Given the description of an element on the screen output the (x, y) to click on. 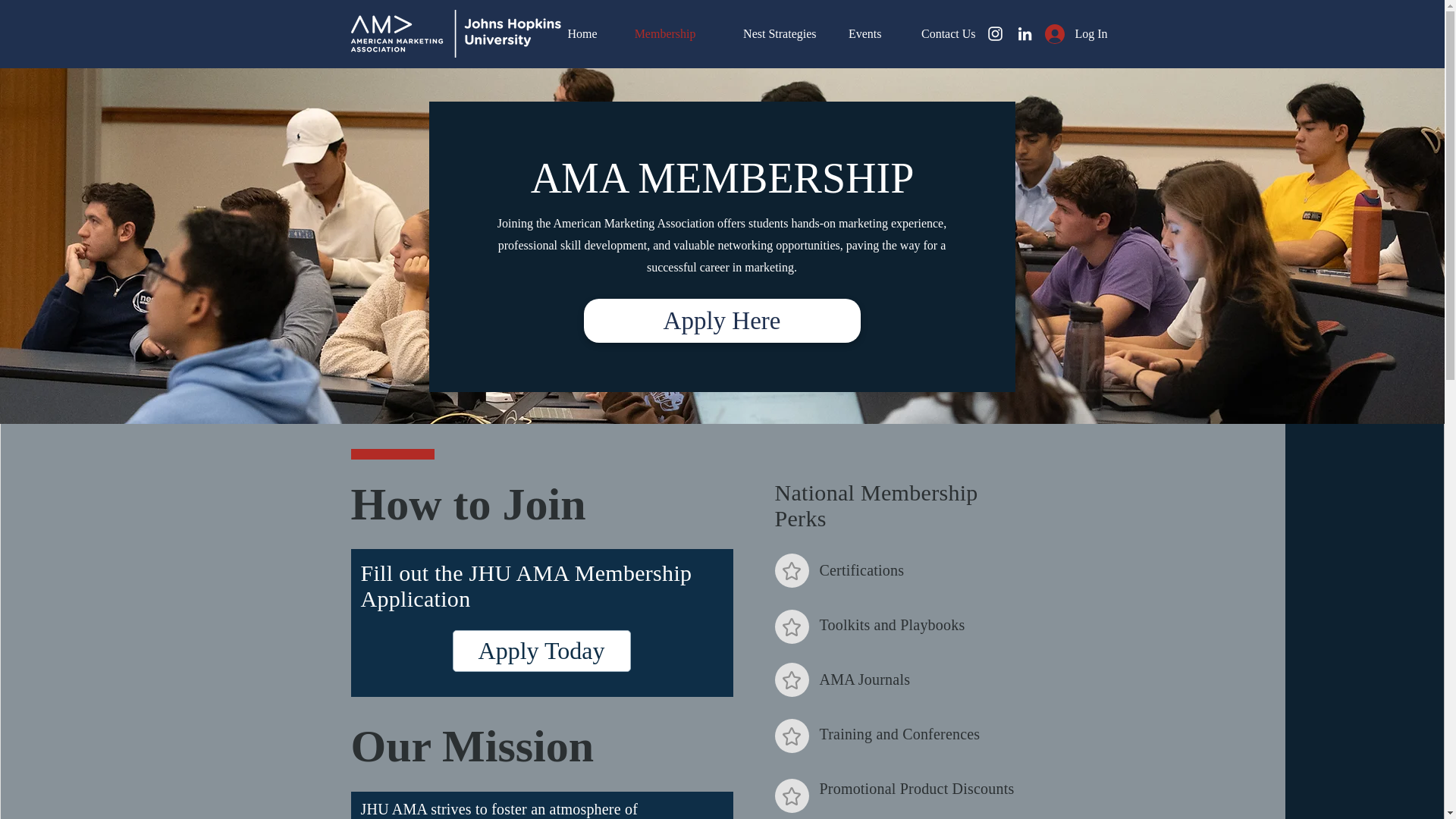
Home (578, 33)
Log In (1063, 33)
Membership (657, 33)
Contact Us (940, 33)
Apply Today (540, 650)
Apply Here (721, 320)
